Given the description of an element on the screen output the (x, y) to click on. 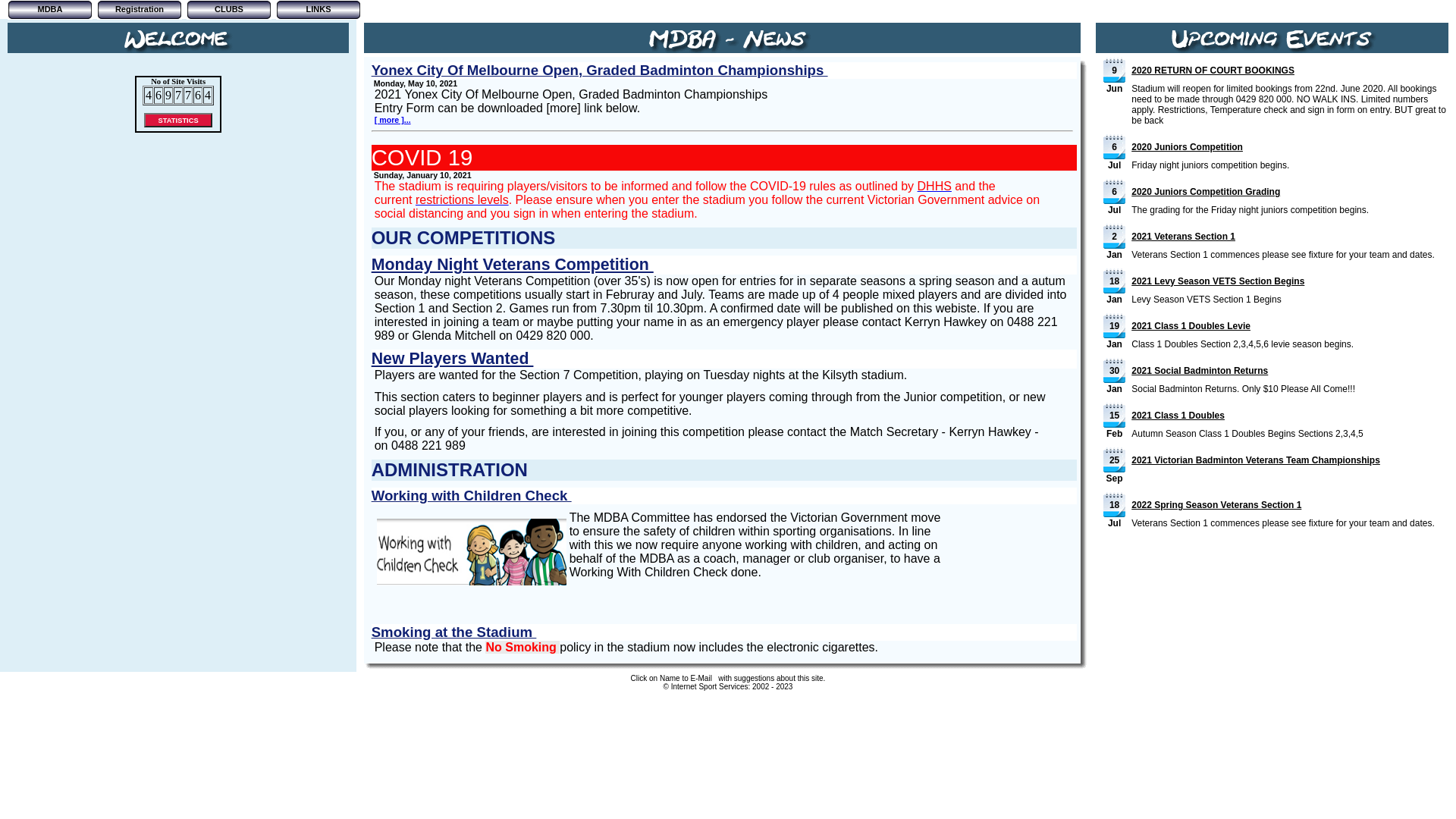
LINKS Element type: text (318, 9)
DHHS Element type: text (934, 185)
[ more ]... Element type: text (392, 119)
Click for more information Element type: hover (471, 580)
MDBA Element type: text (49, 9)
Registration Element type: text (139, 9)
STATISTICS Element type: text (178, 119)
restrictions levels Element type: text (461, 199)
CLUBS Element type: text (228, 9)
